Given the description of an element on the screen output the (x, y) to click on. 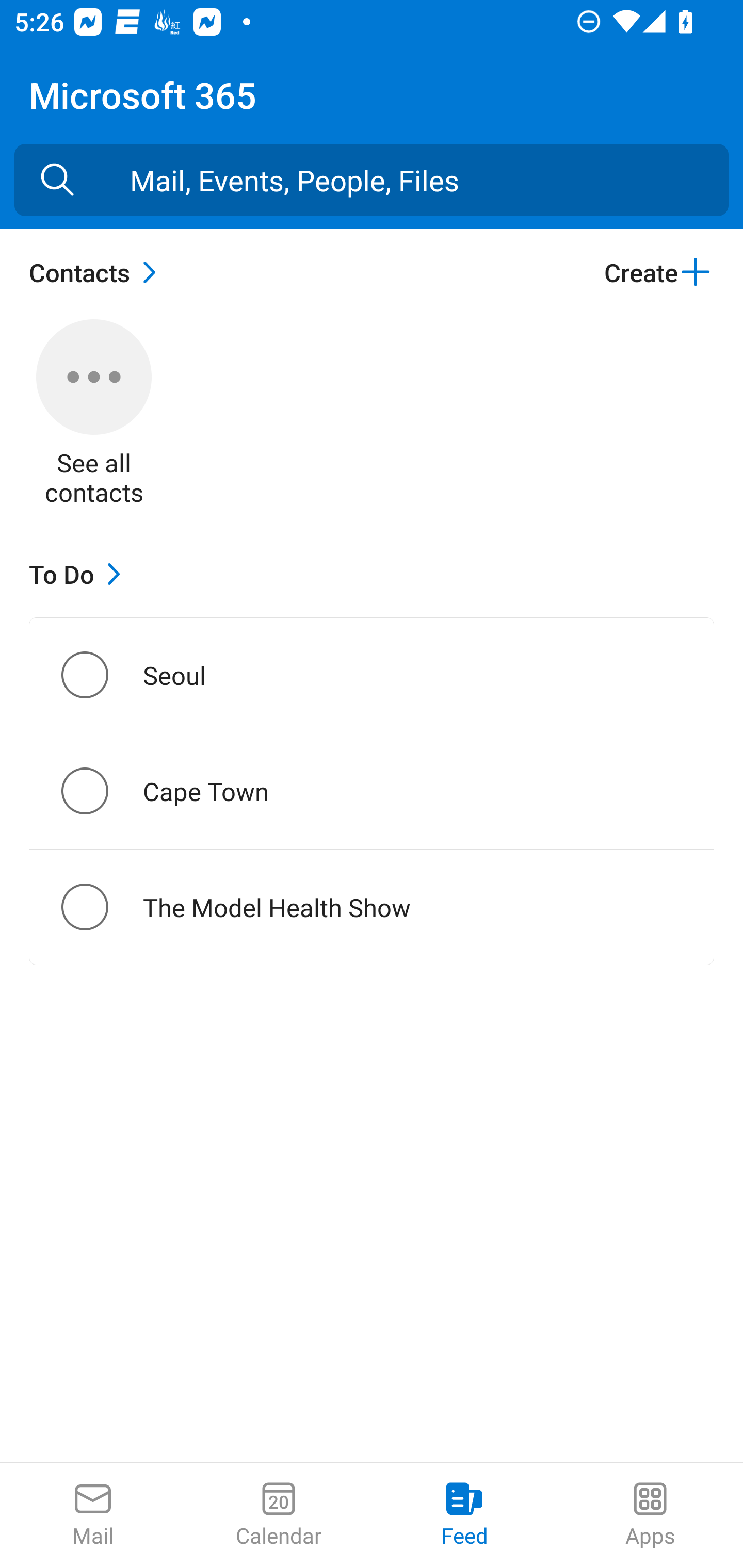
Search for Mail, Events, People, Files (57, 180)
Contacts (97, 271)
Create Create contact (658, 271)
See all contacts (93, 414)
To Do (79, 573)
Seoul Seoul Seoul. not completed (371, 674)
Seoul (101, 674)
Cape Town Cape Town Cape Town. not completed (371, 790)
Cape Town (101, 790)
The Model Health Show (101, 906)
Mail (92, 1515)
Calendar (278, 1515)
Apps (650, 1515)
